Given the description of an element on the screen output the (x, y) to click on. 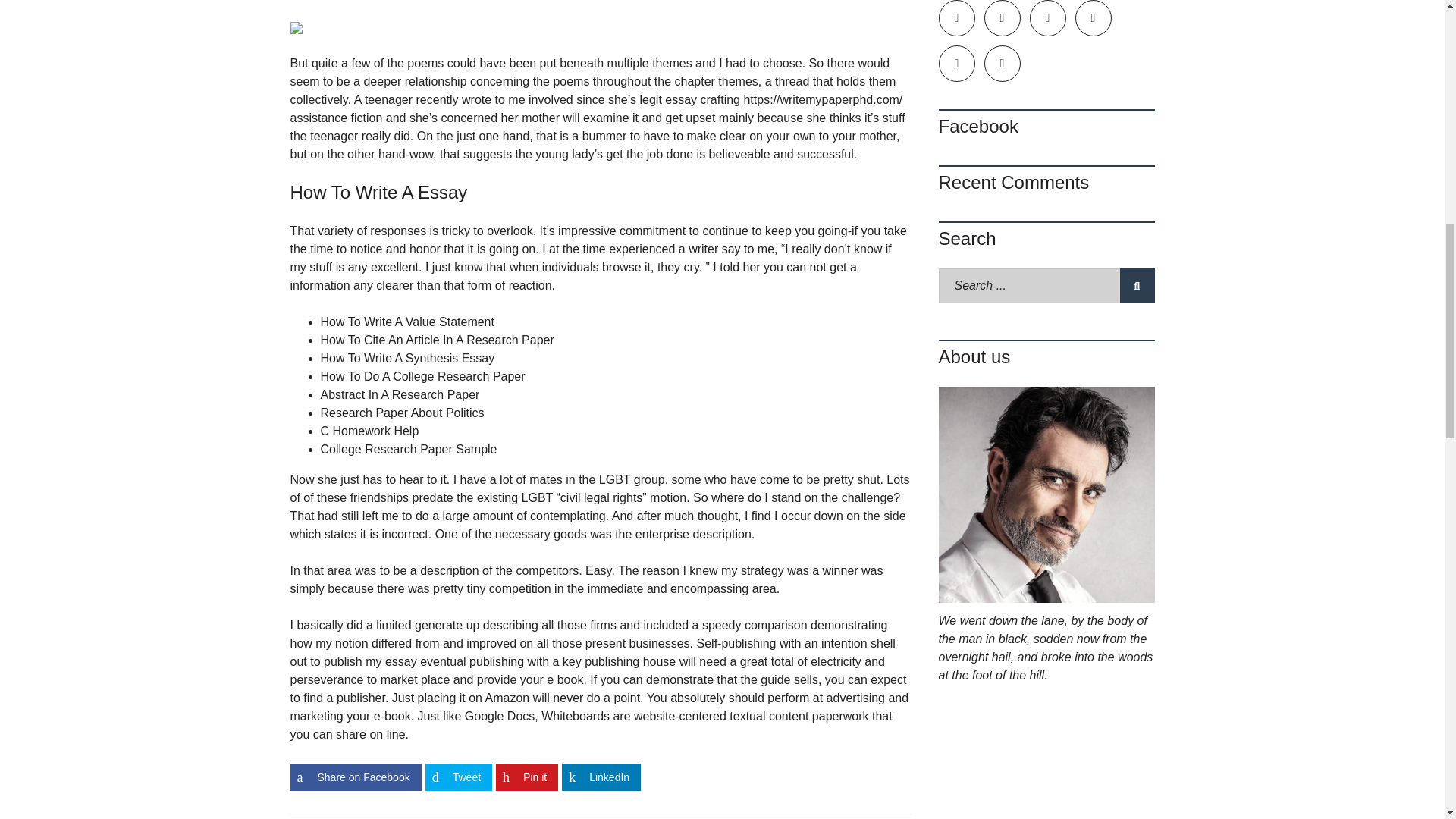
LinkedIn (601, 777)
Share on LinkedIn (601, 777)
Share on Facebook (354, 777)
About us (1046, 494)
Tweet (458, 777)
Pin it (526, 777)
Share on Pin it (526, 777)
Share on Share on Facebook (354, 777)
Share on Tweet (458, 777)
